Given the description of an element on the screen output the (x, y) to click on. 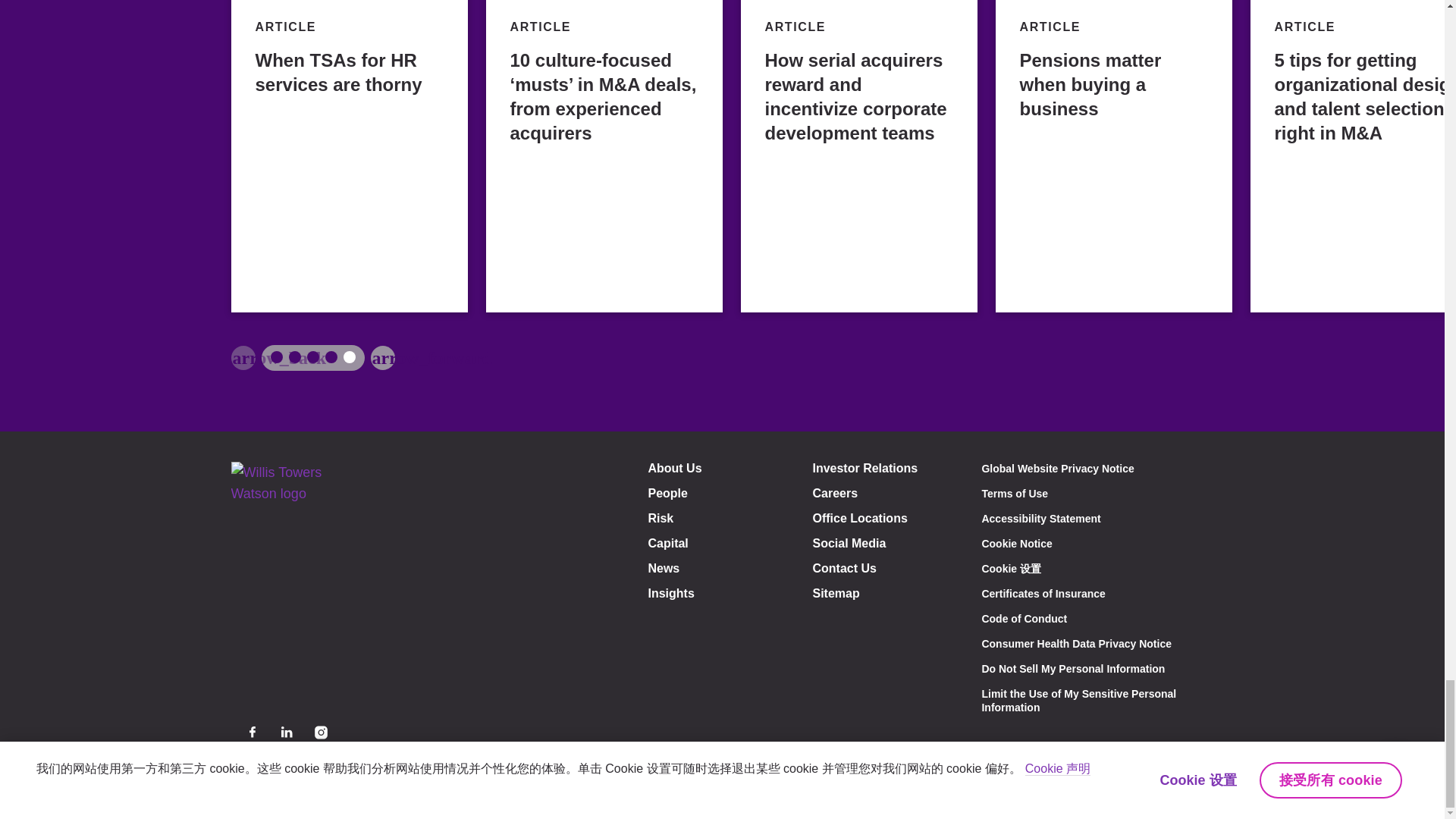
Instagram (320, 732)
Linkedin (287, 732)
Facebook (252, 732)
